Given the description of an element on the screen output the (x, y) to click on. 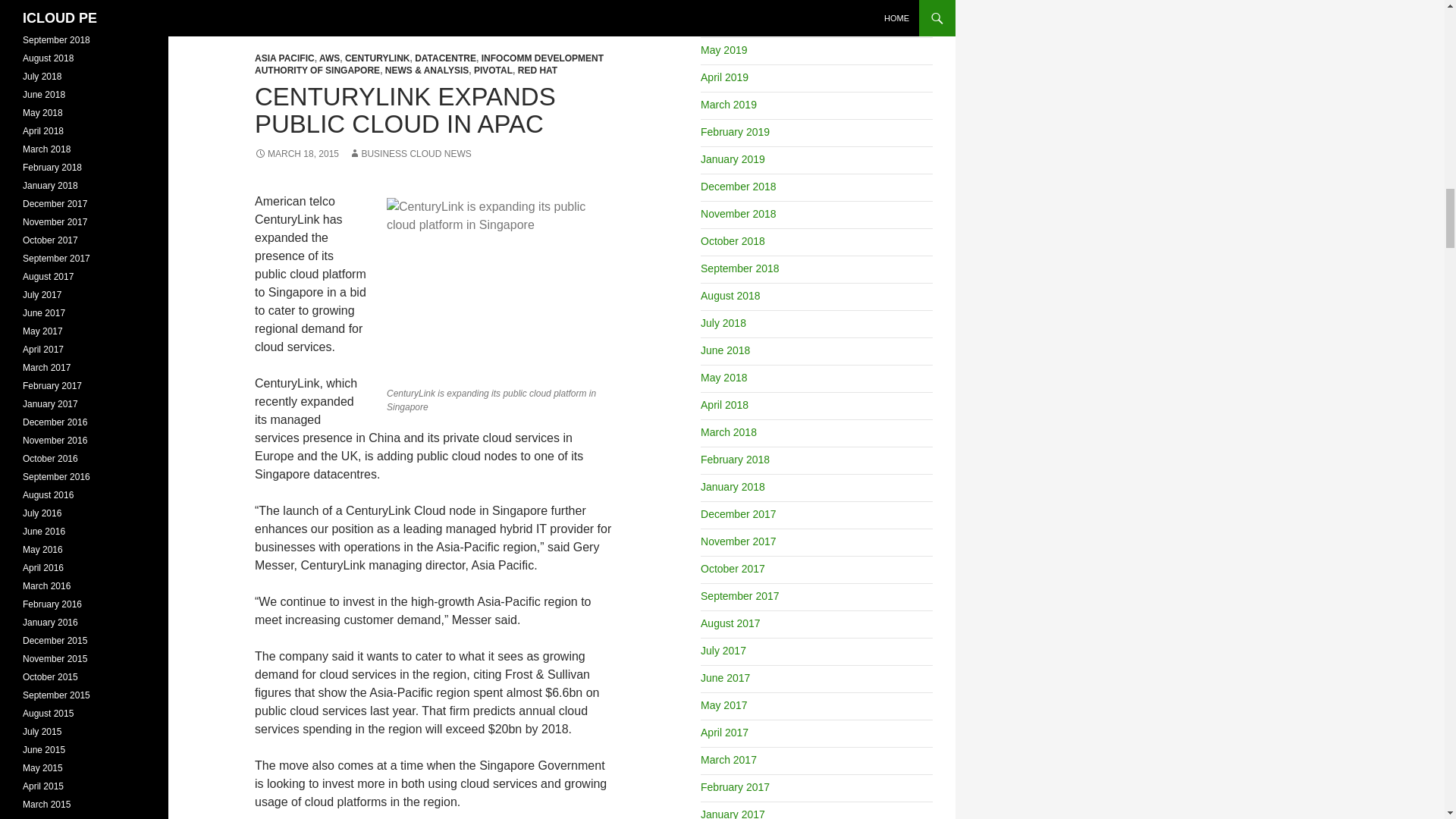
ASIA PACIFIC (284, 58)
PIVOTAL (493, 70)
DATACENTRE (445, 58)
RED HAT (537, 70)
CENTURYLINK (377, 58)
INFOCOMM DEVELOPMENT AUTHORITY OF SINGAPORE (429, 64)
BUSINESS CLOUD NEWS (409, 153)
MARCH 18, 2015 (296, 153)
AWS (328, 58)
CENTURYLINK EXPANDS PUBLIC CLOUD IN APAC (405, 110)
